Given the description of an element on the screen output the (x, y) to click on. 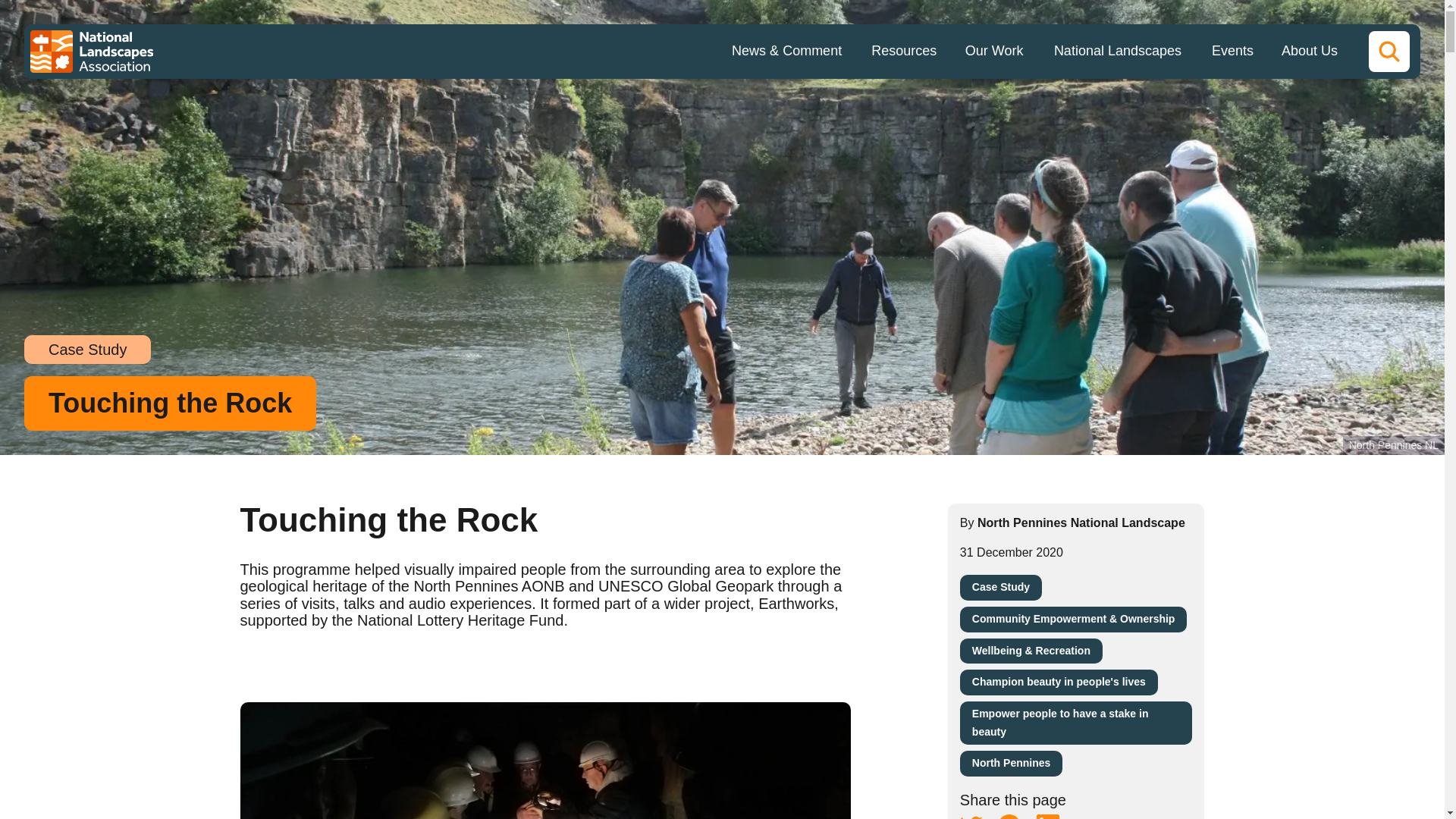
Champion beauty in people's lives (1058, 682)
North Pennines (1010, 763)
Resources (904, 51)
Empower people to have a stake in beauty (1075, 723)
Search (1388, 51)
About Us (1309, 51)
National Landscapes (1117, 51)
Events (1232, 51)
Our Work (993, 51)
Case Study (1000, 587)
